Given the description of an element on the screen output the (x, y) to click on. 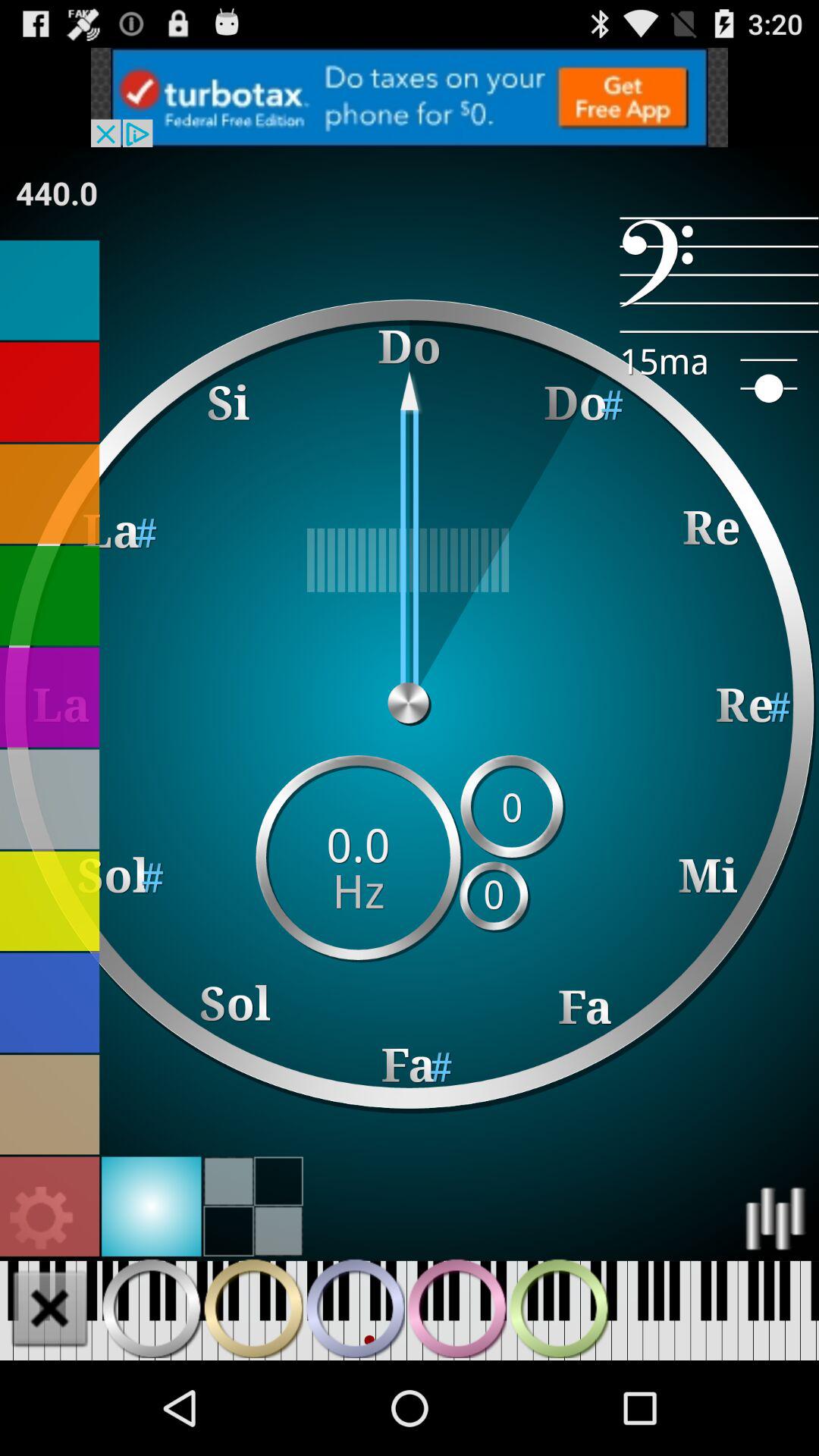
scroll until 440.0 (56, 192)
